Given the description of an element on the screen output the (x, y) to click on. 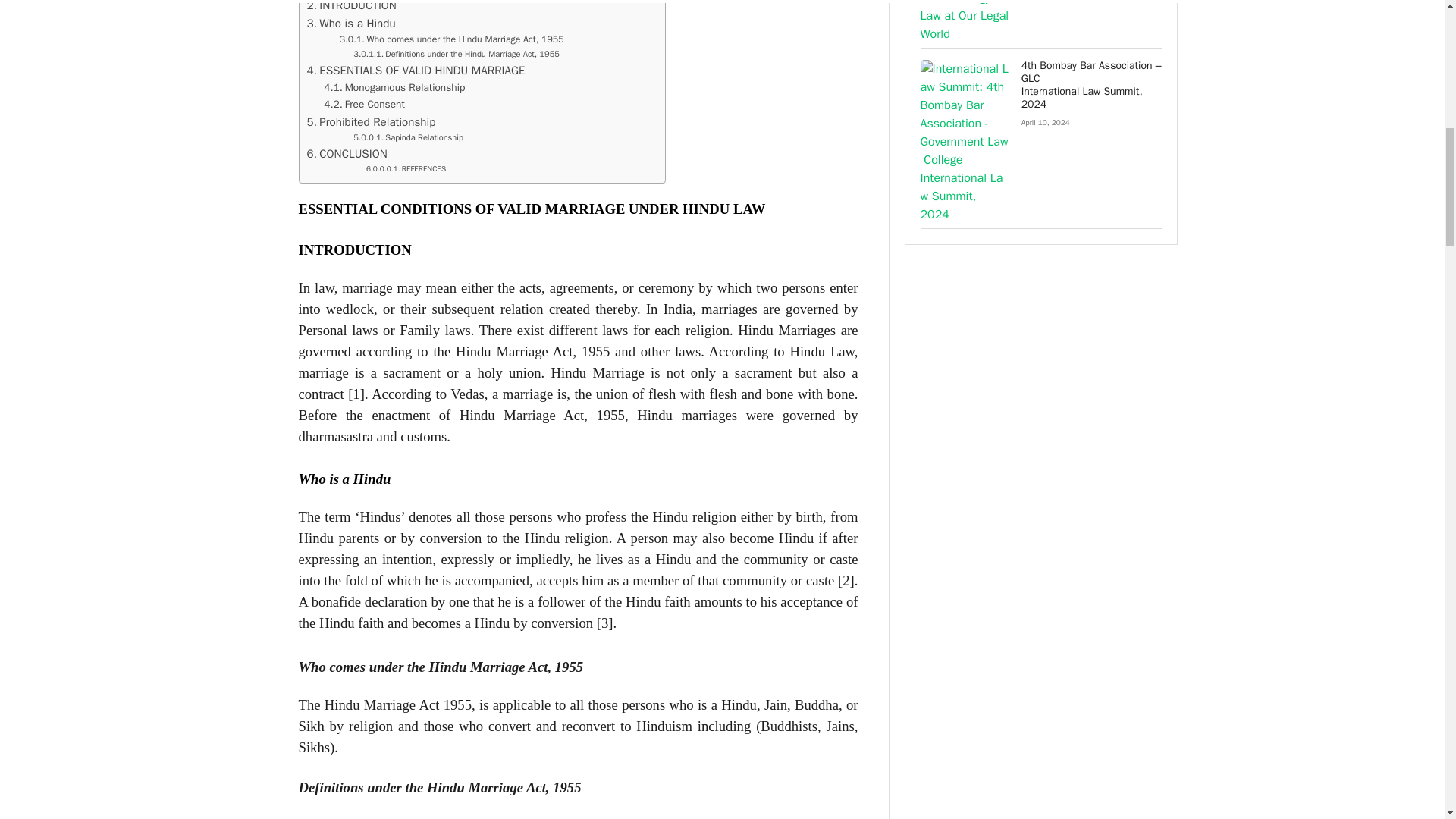
Sapinda Relationship (408, 137)
Who is a Hindu (349, 23)
Who comes under the Hindu Marriage Act, 1955 (451, 39)
INTRODUCTION (350, 6)
Monogamous Relationship (393, 87)
Definitions under the Hindu Marriage Act, 1955 (456, 54)
Prohibited Relationship (370, 122)
ESSENTIALS OF VALID HINDU MARRIAGE (414, 70)
Free Consent (363, 104)
